Given the description of an element on the screen output the (x, y) to click on. 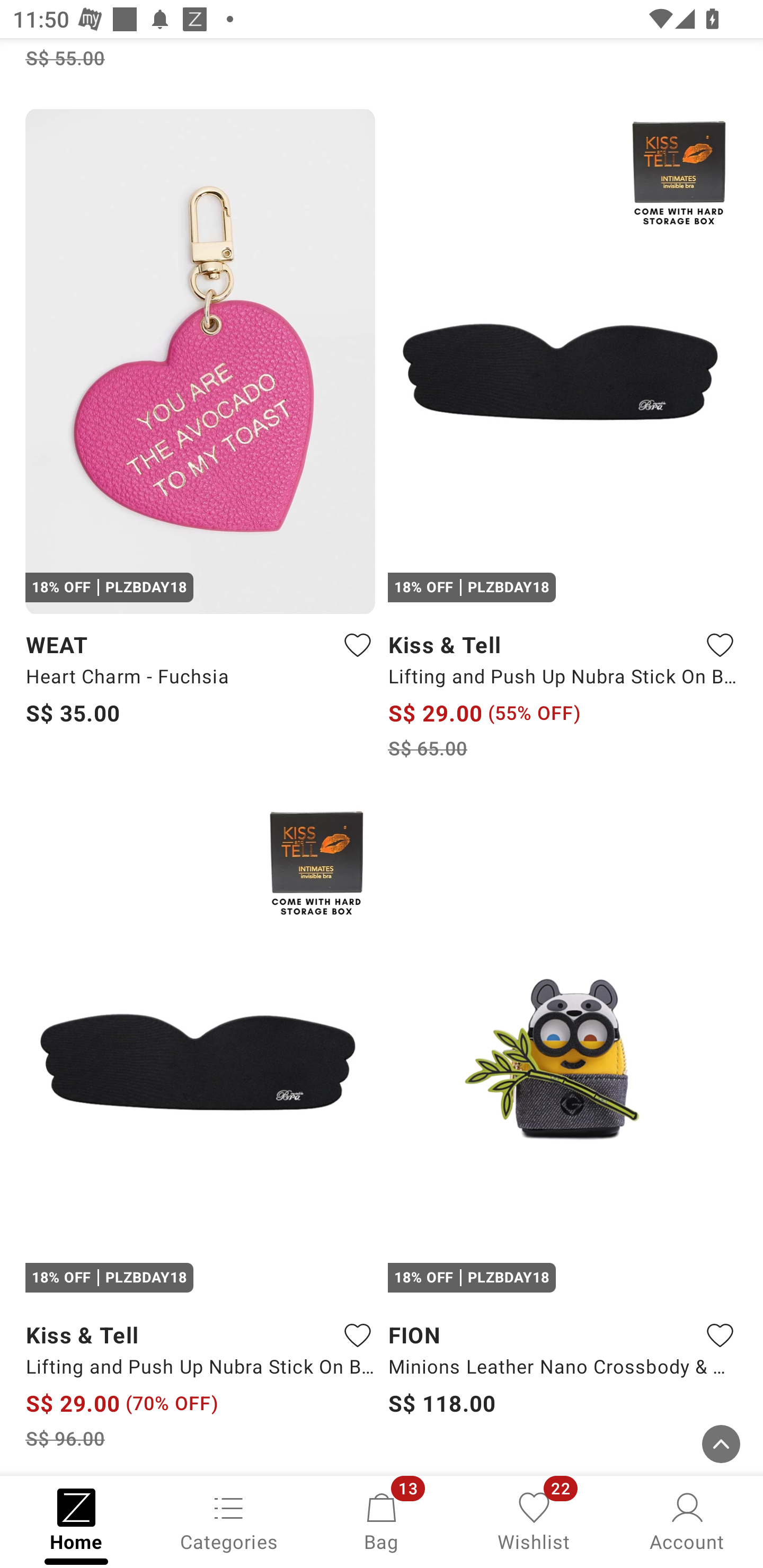
Categories (228, 1519)
Bag, 13 new notifications Bag (381, 1519)
Wishlist, 22 new notifications Wishlist (533, 1519)
Account (686, 1519)
